Given the description of an element on the screen output the (x, y) to click on. 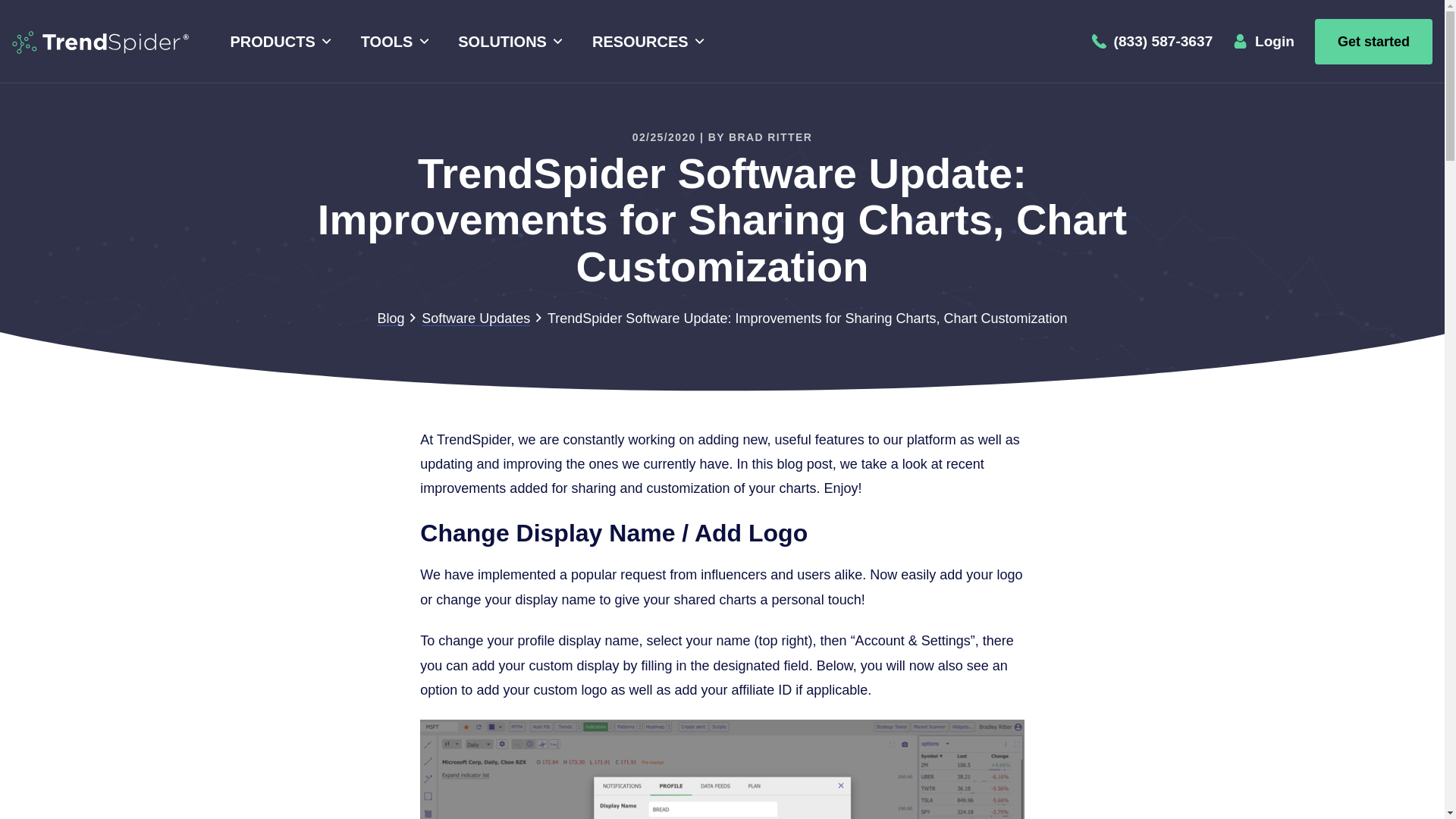
Go to TrendSpider Blog. (390, 318)
Go to the Software Updates Category archives. (475, 318)
Get started (1373, 41)
SOLUTIONS (508, 41)
RESOURCES (645, 41)
TOOLS (392, 41)
PRODUCTS (277, 41)
TrendSpider (100, 41)
